Given the description of an element on the screen output the (x, y) to click on. 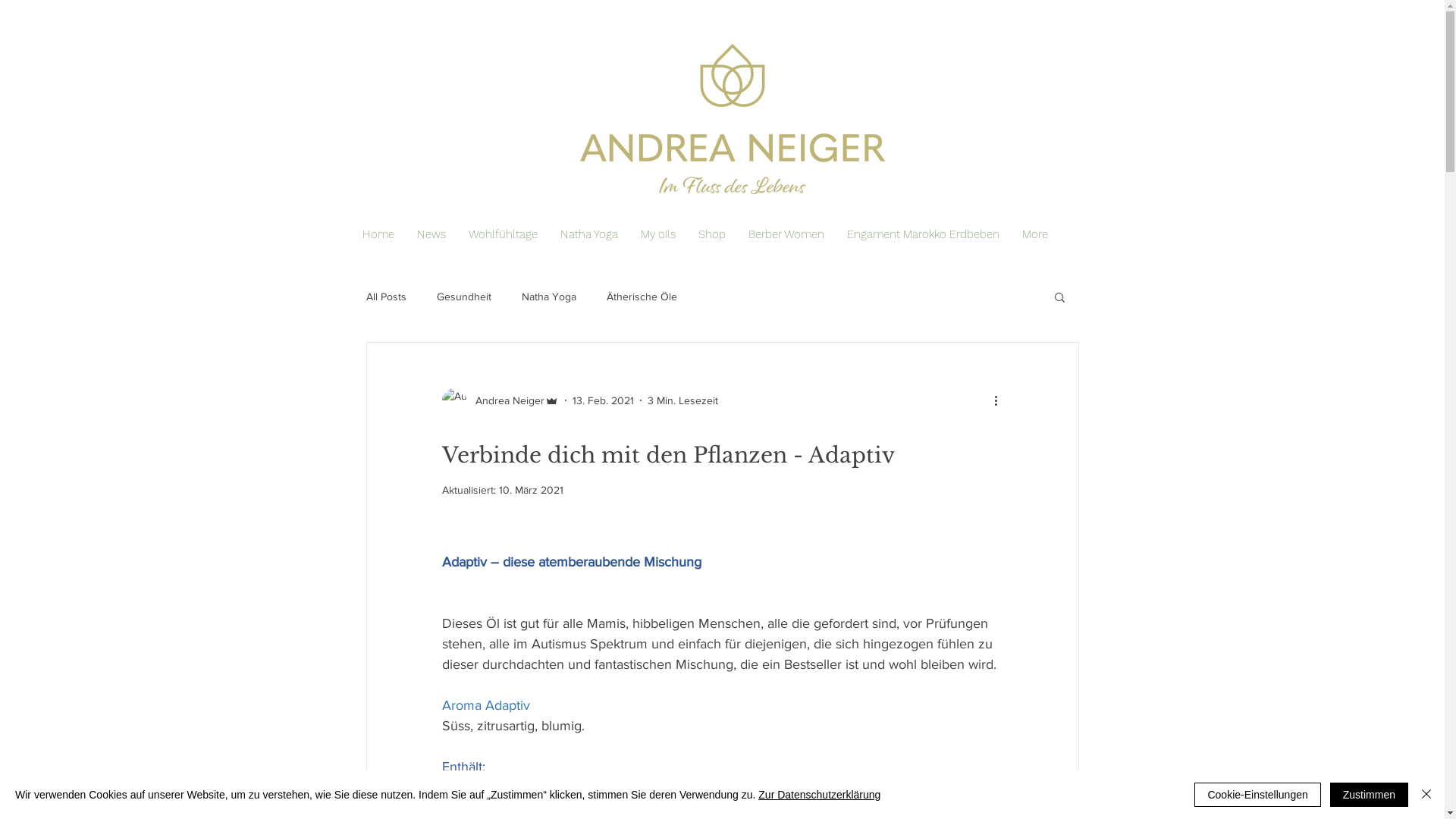
Andrea Neiger Element type: text (499, 400)
All Posts Element type: text (385, 296)
Gesundheit Element type: text (463, 296)
Natha Yoga Element type: text (548, 296)
Natha Yoga Element type: text (589, 234)
News Element type: text (430, 234)
Shop Element type: text (712, 234)
Home Element type: text (377, 234)
Berber Women Element type: text (786, 234)
Zustimmen Element type: text (1369, 794)
Engament Marokko Erdbeben Element type: text (922, 234)
Cookie-Einstellungen Element type: text (1257, 794)
My oils Element type: text (658, 234)
